Given the description of an element on the screen output the (x, y) to click on. 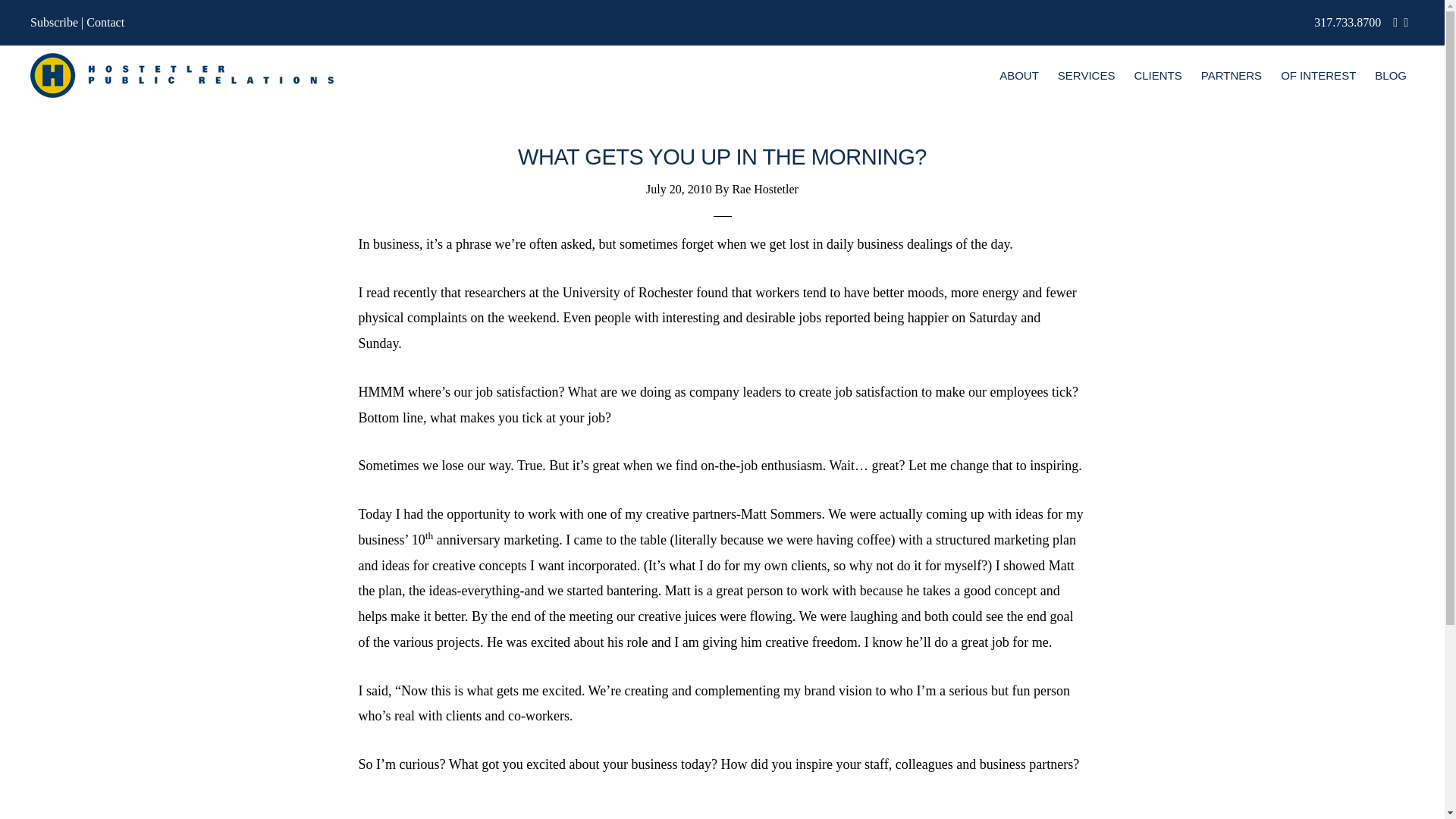
ABOUT (1018, 75)
SERVICES (1085, 75)
BLOG (1390, 75)
OF INTEREST (1317, 75)
PARTNERS (1231, 75)
Rae Hostetler (764, 188)
Subscribe (54, 21)
Contact (104, 21)
CLIENTS (1157, 75)
